Given the description of an element on the screen output the (x, y) to click on. 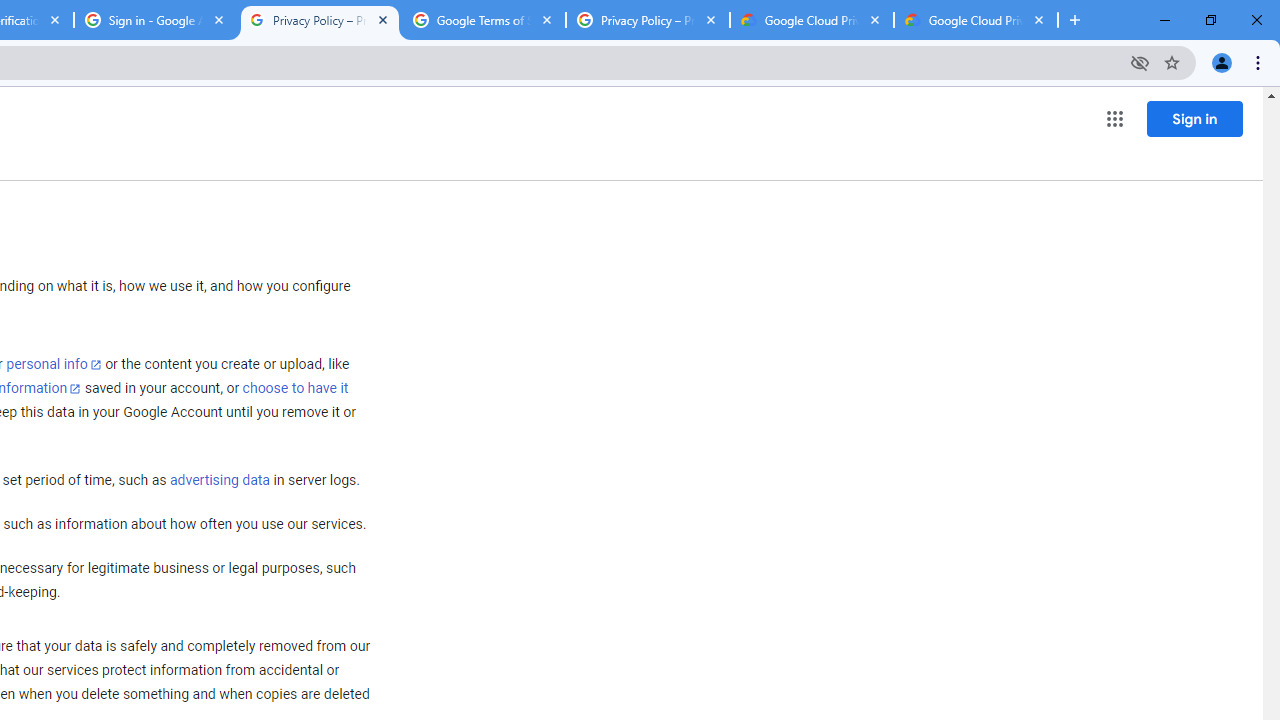
advertising data (219, 481)
Google Cloud Privacy Notice (811, 20)
personal info (54, 364)
